Given the description of an element on the screen output the (x, y) to click on. 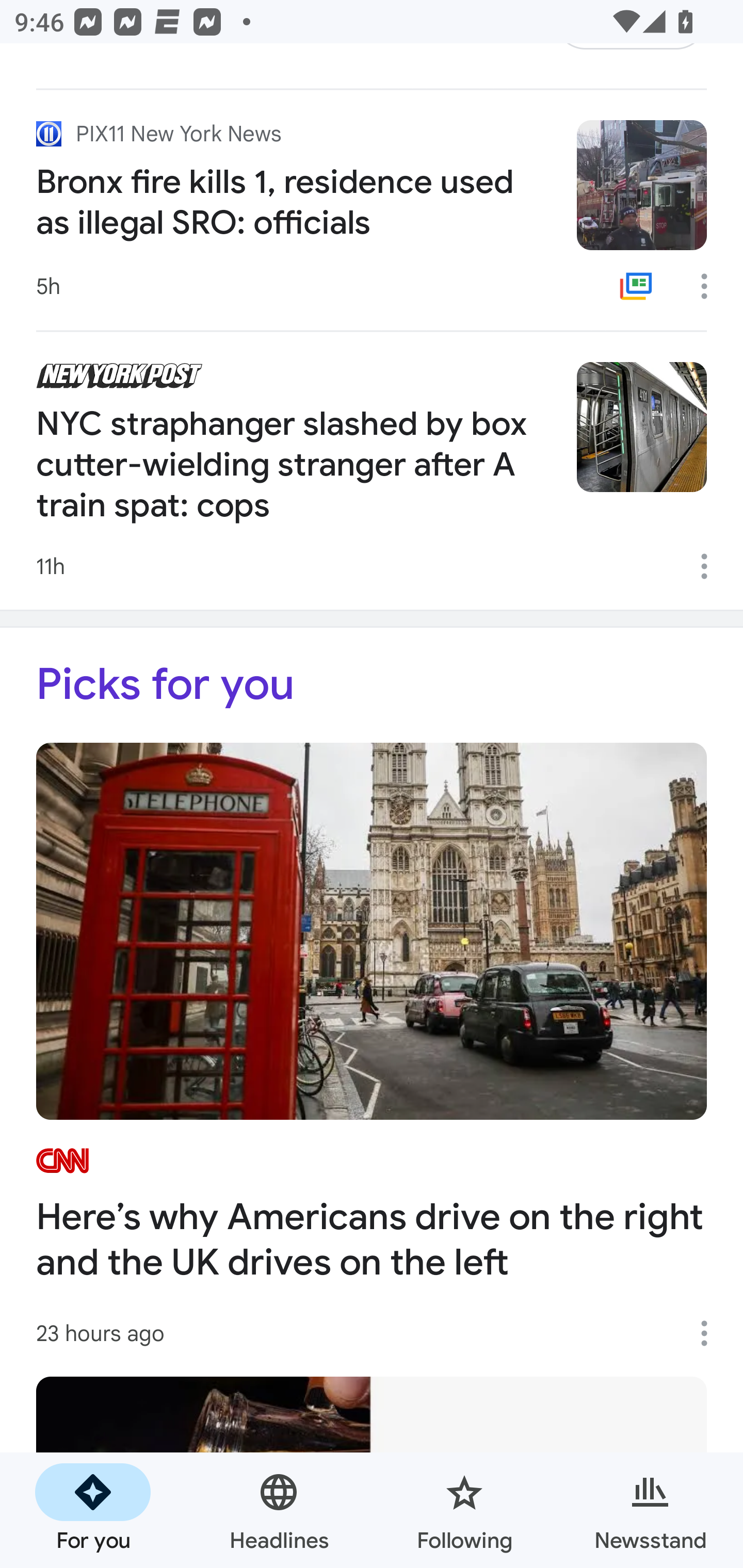
More options (711, 286)
More options (711, 565)
More options (711, 1333)
For you (92, 1509)
Headlines (278, 1509)
Following (464, 1509)
Newsstand (650, 1509)
